Given the description of an element on the screen output the (x, y) to click on. 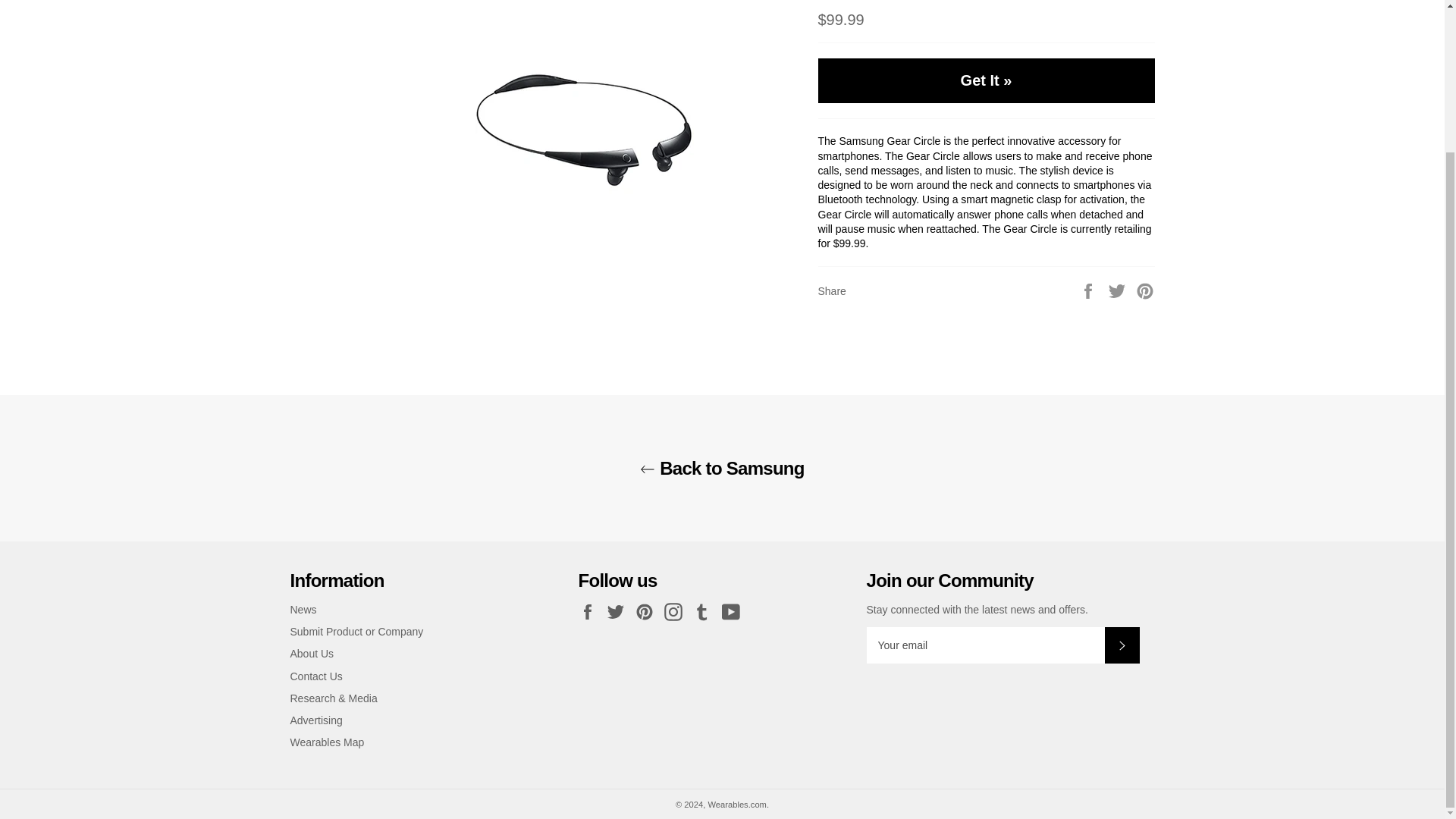
Wearables.com on YouTube (735, 611)
Wearables.com on Pinterest (647, 611)
Wearables.com on Instagram (676, 611)
Tweet on Twitter (1118, 290)
Wearables.com on Tumblr (706, 611)
Wearables.com on Facebook (591, 611)
Share on Facebook (1089, 290)
Wearables.com on Twitter (619, 611)
Pin on Pinterest (1144, 290)
